Given the description of an element on the screen output the (x, y) to click on. 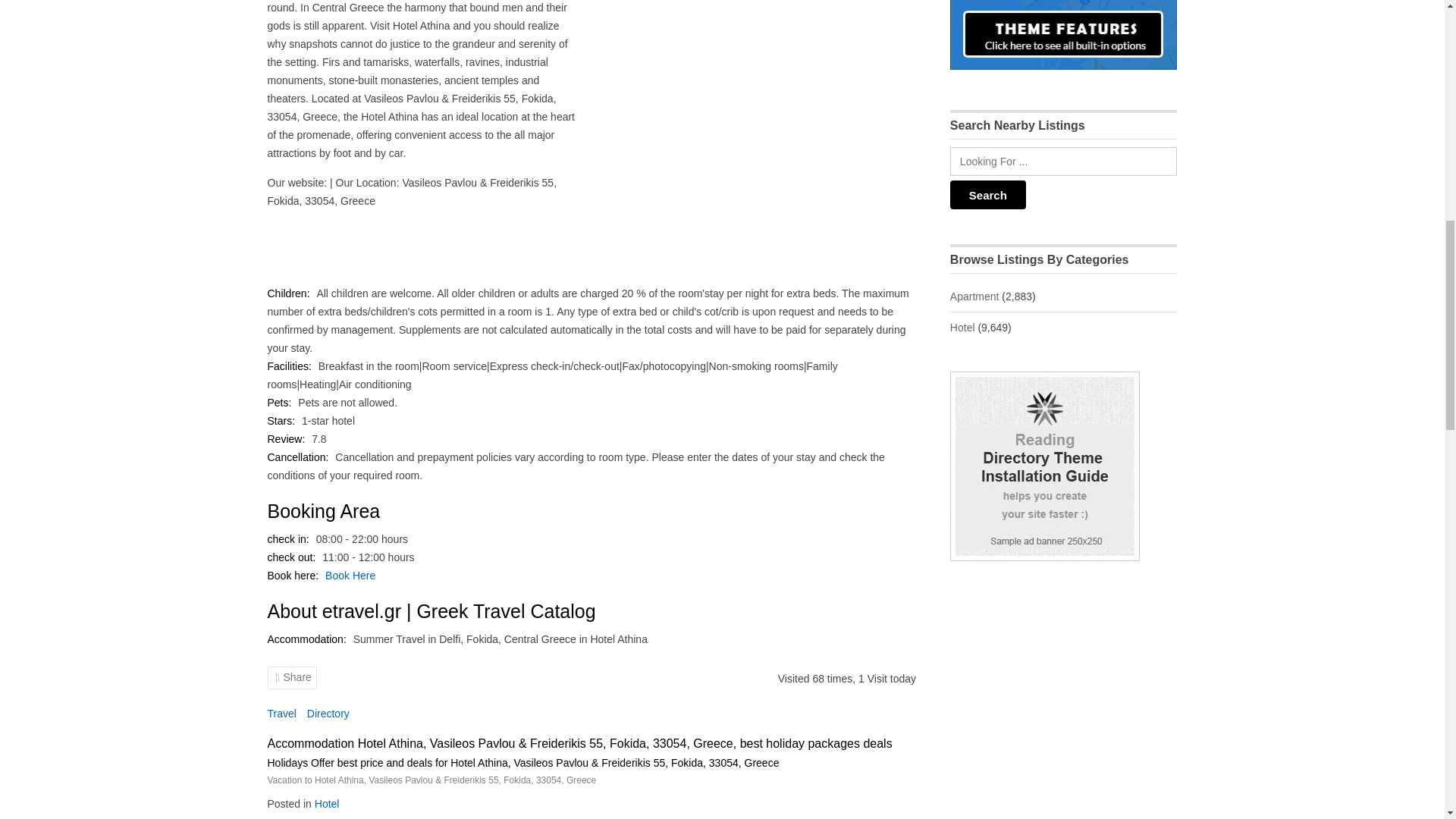
Search (988, 194)
